Given the description of an element on the screen output the (x, y) to click on. 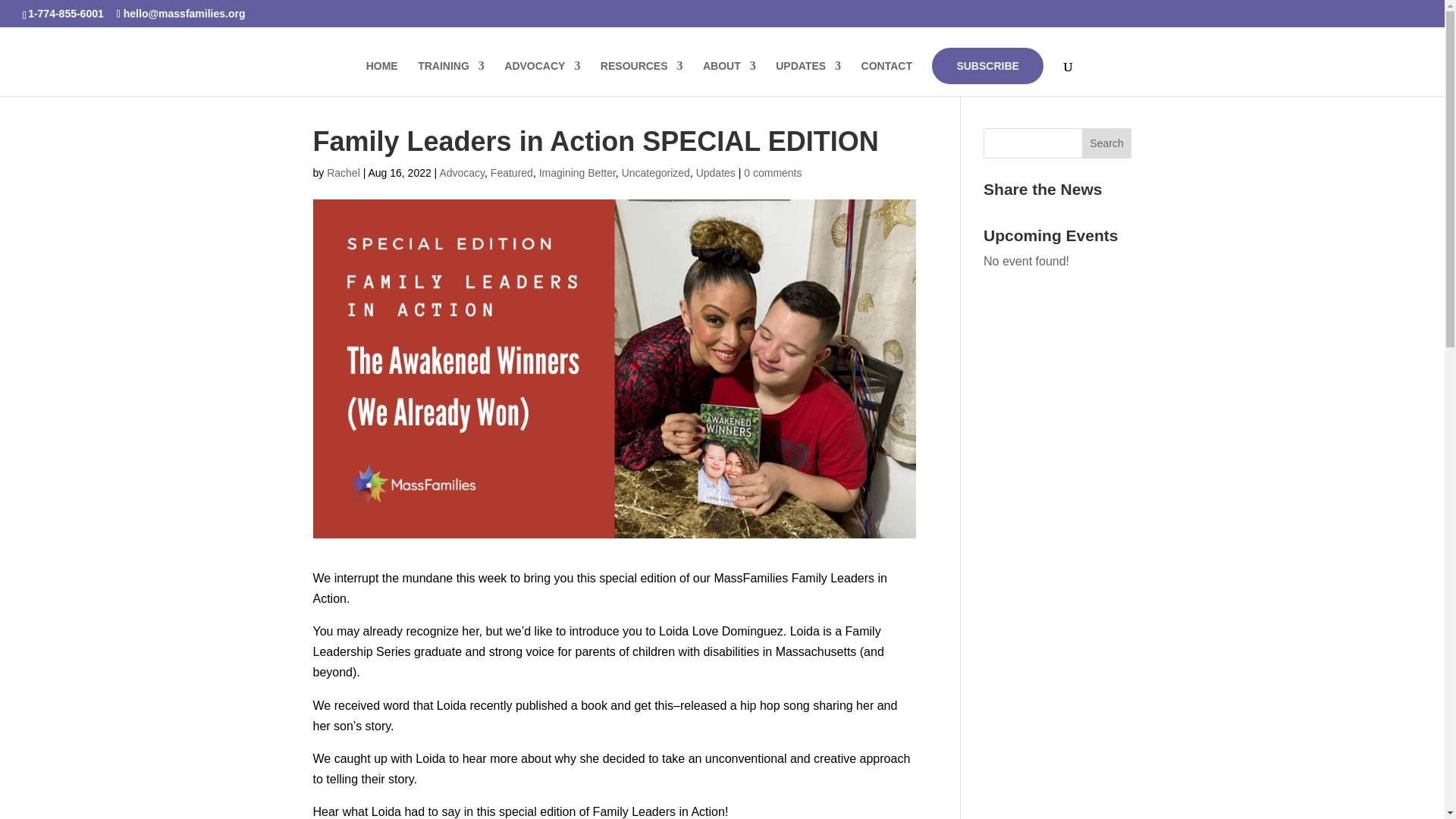
Search (1106, 142)
Posts by Rachel (342, 173)
HOME (381, 78)
Updates (715, 173)
SUBSCRIBE (987, 65)
UPDATES (808, 78)
Uncategorized (655, 173)
Imagining Better (576, 173)
Search (1106, 142)
Rachel (342, 173)
ADVOCACY (541, 78)
Featured (511, 173)
RESOURCES (640, 78)
ABOUT (729, 78)
Advocacy (461, 173)
